Given the description of an element on the screen output the (x, y) to click on. 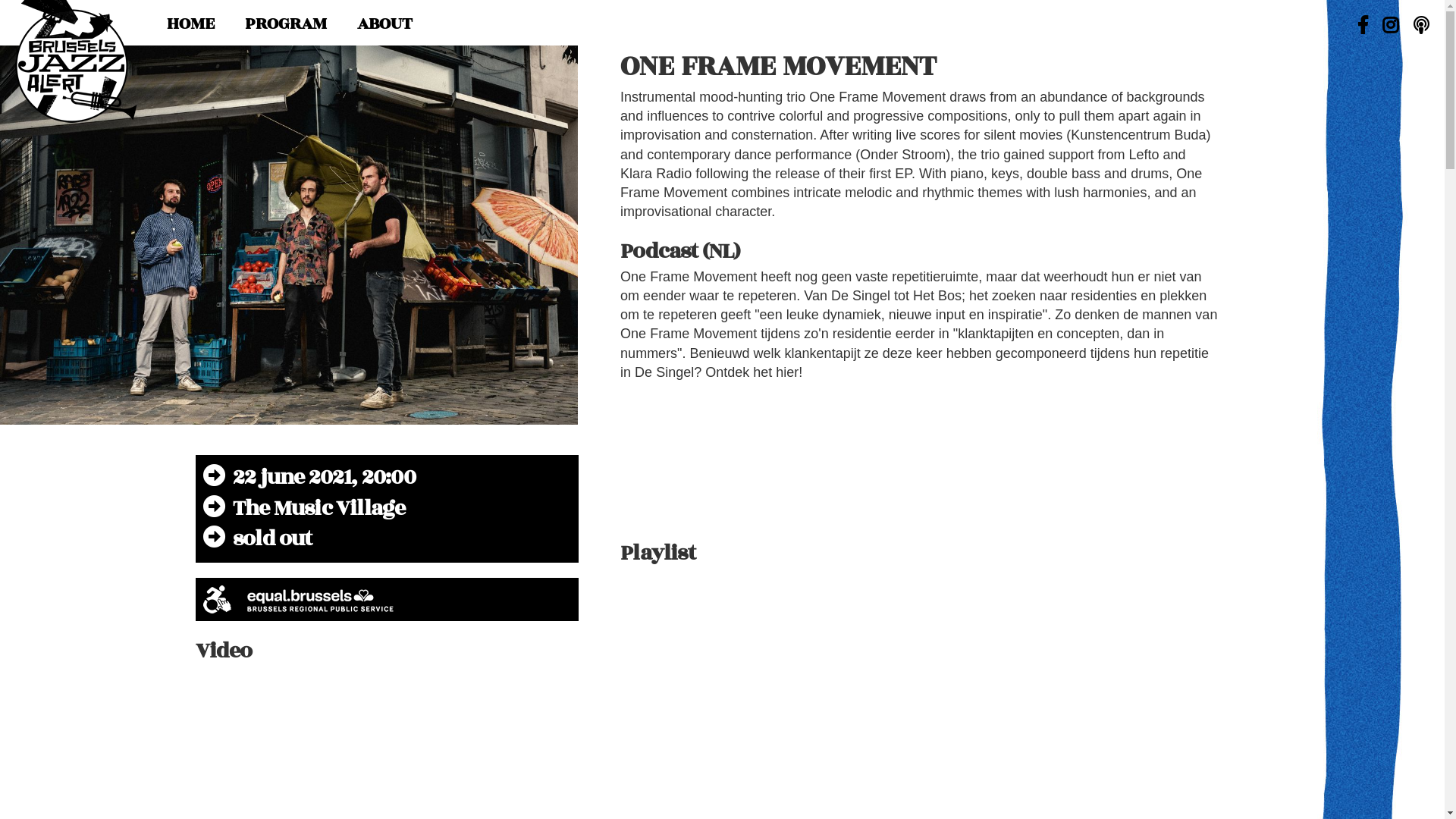
ABOUT Element type: text (384, 23)
HOME Element type: text (190, 23)
PROGRAM Element type: text (285, 23)
Brussels Jazz Alert Element type: hover (76, 61)
